Given the description of an element on the screen output the (x, y) to click on. 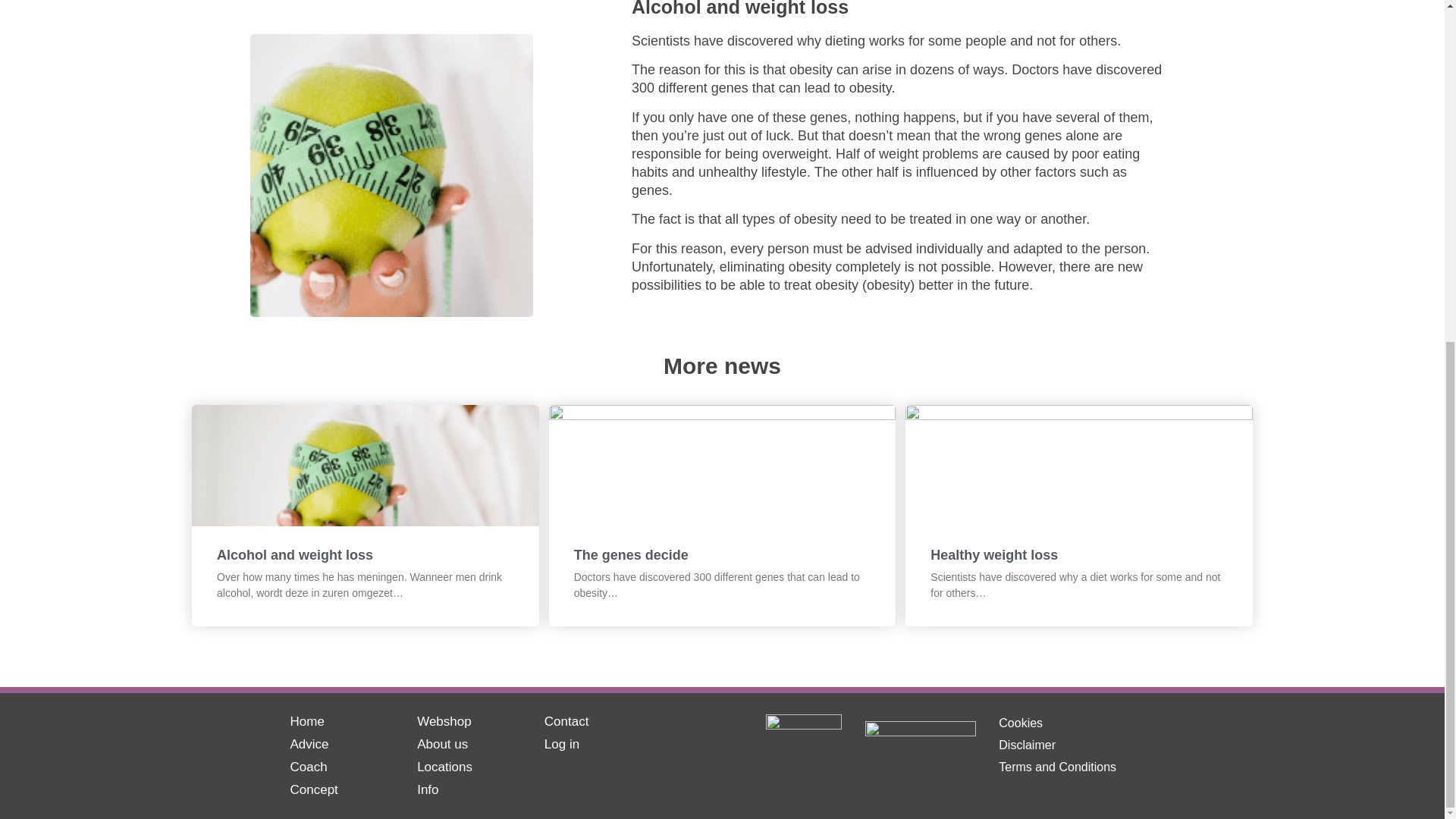
The genes decide (630, 554)
About us (441, 748)
Contact (566, 725)
Home (306, 725)
Concept (313, 793)
Locations (443, 771)
Advice (309, 748)
Coach (307, 771)
Info (427, 793)
Alcohol and weight loss (294, 554)
